Given the description of an element on the screen output the (x, y) to click on. 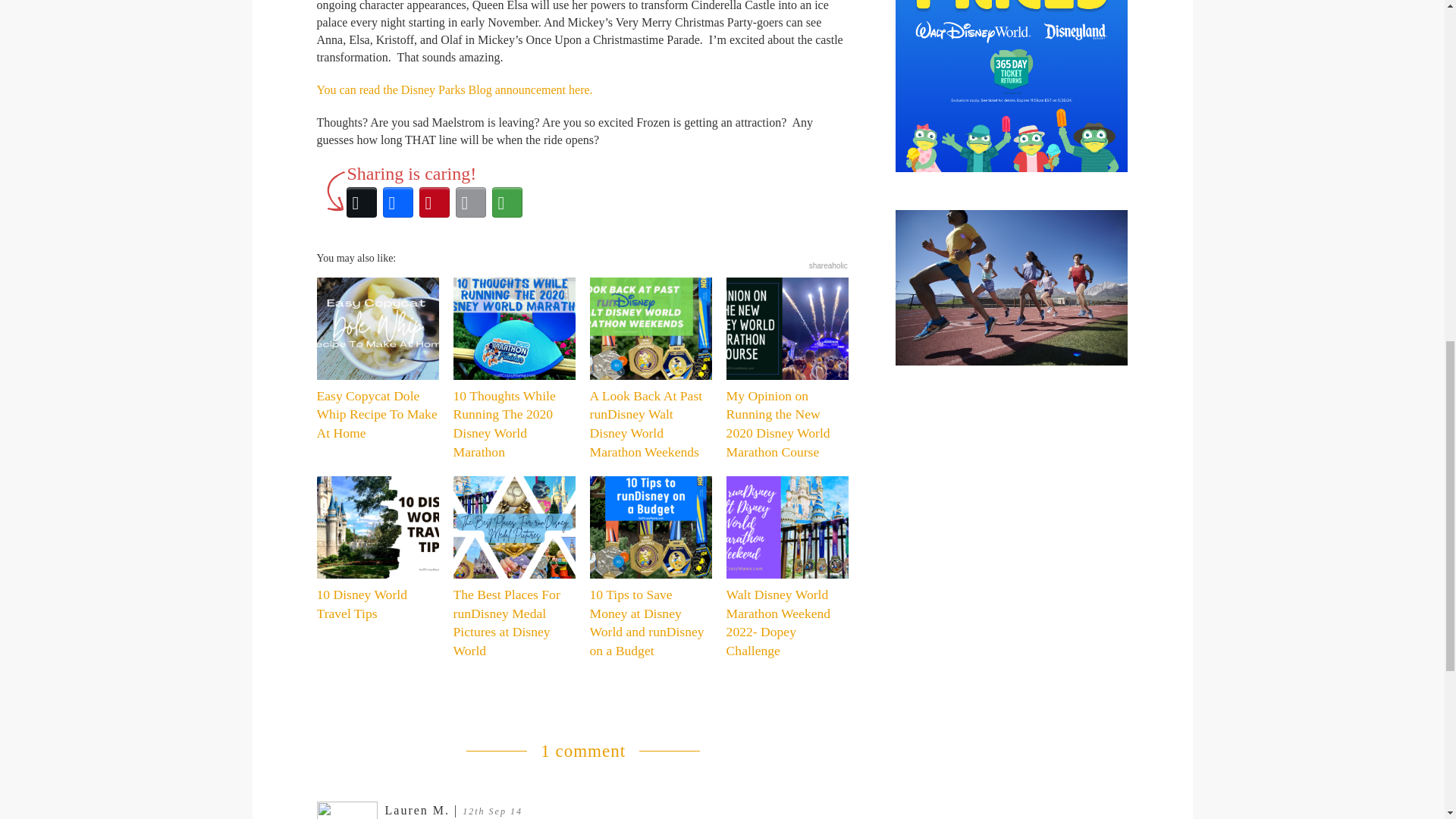
Facebook (396, 202)
Email This (469, 202)
Pinterest (432, 202)
More Options (505, 202)
You can read the Disney Parks Blog announcement here. (454, 89)
shareaholic (828, 265)
